Given the description of an element on the screen output the (x, y) to click on. 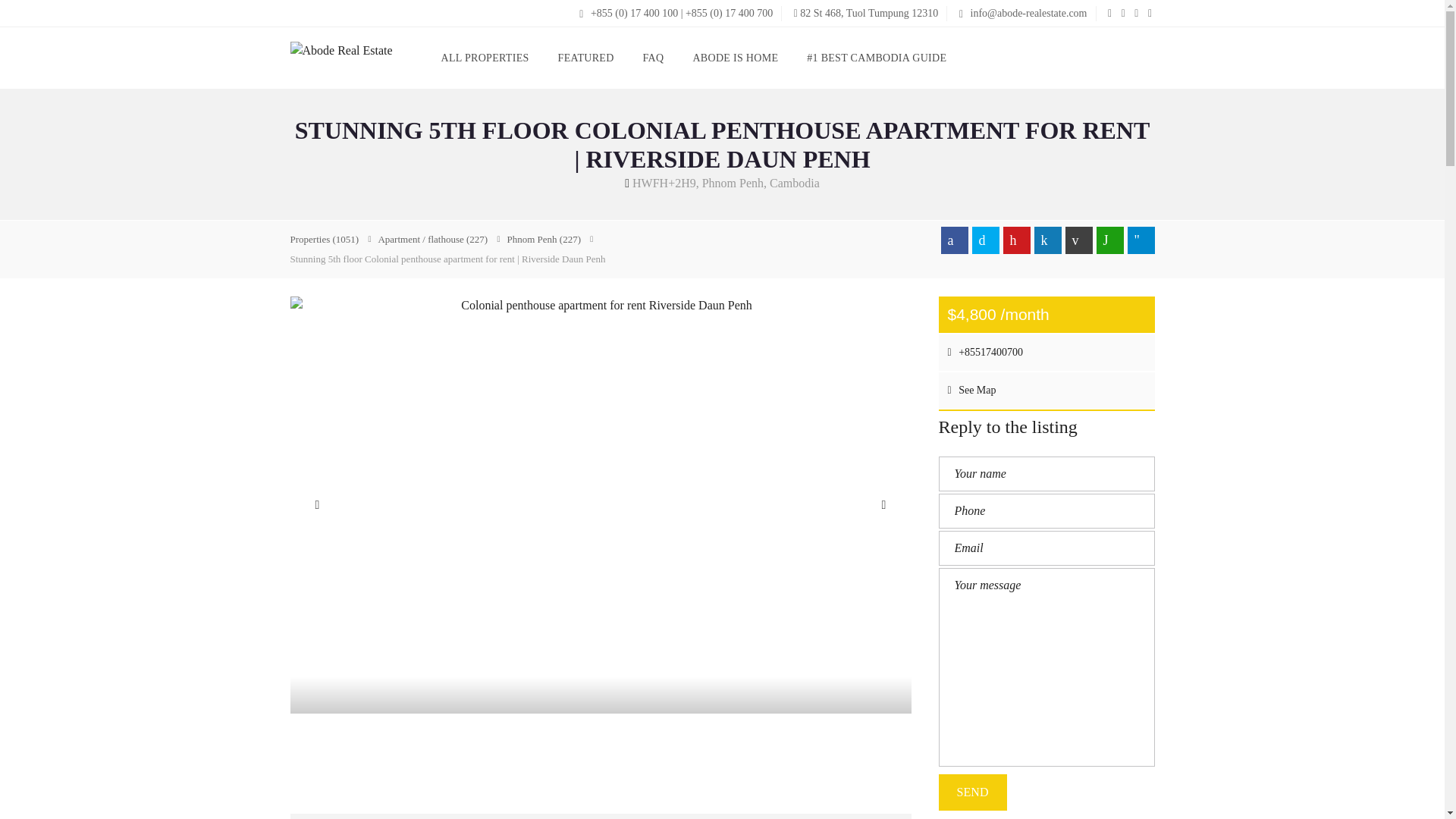
FEATURED (585, 57)
Share on Telegram (1140, 239)
Send (973, 791)
Share on Tweet (985, 239)
Share on Email (1078, 239)
Phnom Penh (543, 238)
ALL PROPERTIES (485, 57)
Share on LinkedIn (1047, 239)
Share on Share on Facebook (954, 239)
Share on Pin it (1016, 239)
